Given the description of an element on the screen output the (x, y) to click on. 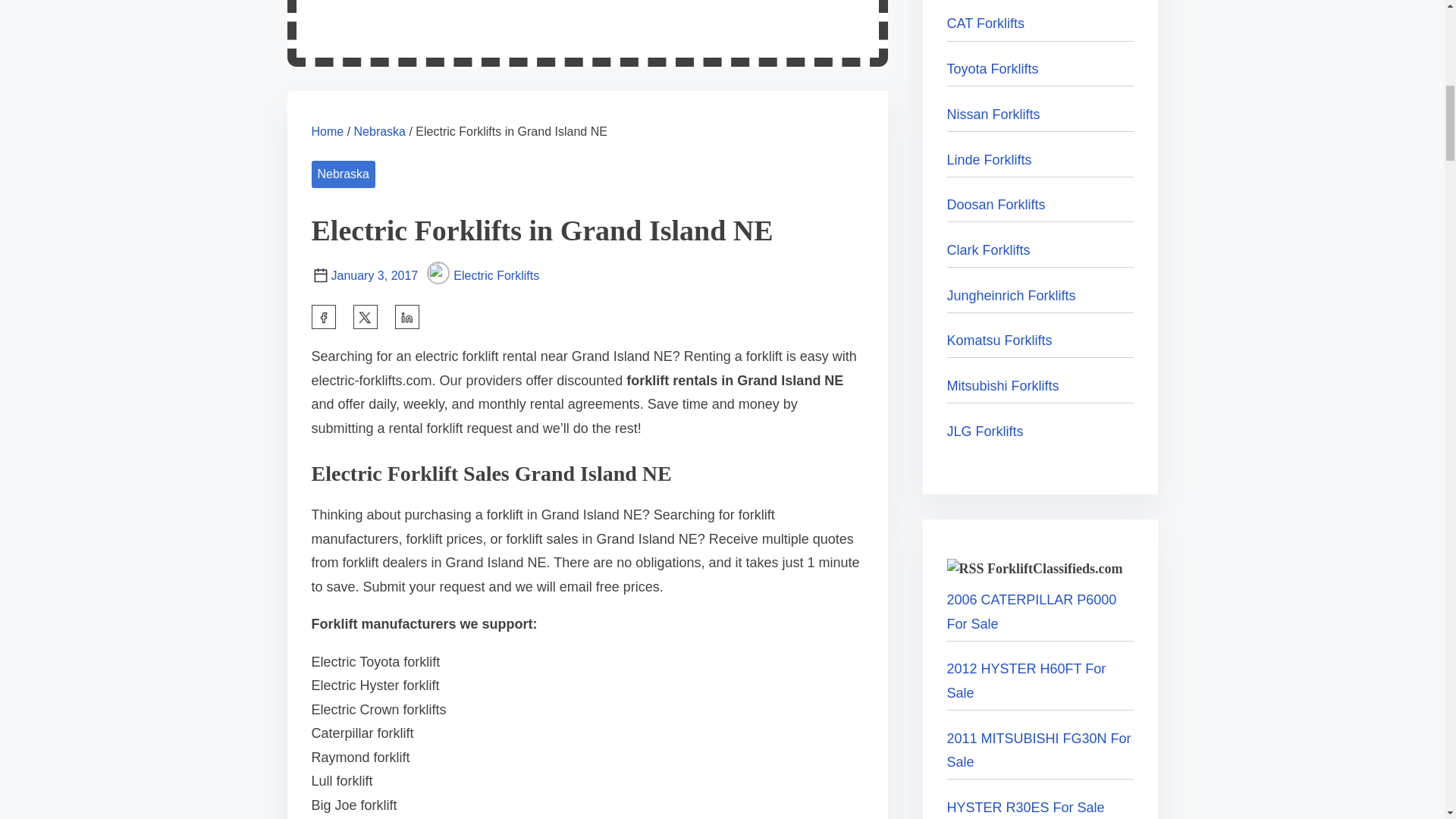
Embedded Wufoo Form (586, 24)
Home (327, 131)
Share this post on Twitter (365, 316)
January 3, 2017 (373, 275)
Nebraska (342, 174)
Share this post on Linkedin (406, 316)
Nebraska (379, 131)
Electric Forklifts (482, 275)
Share this post on Facebook (322, 316)
